Given the description of an element on the screen output the (x, y) to click on. 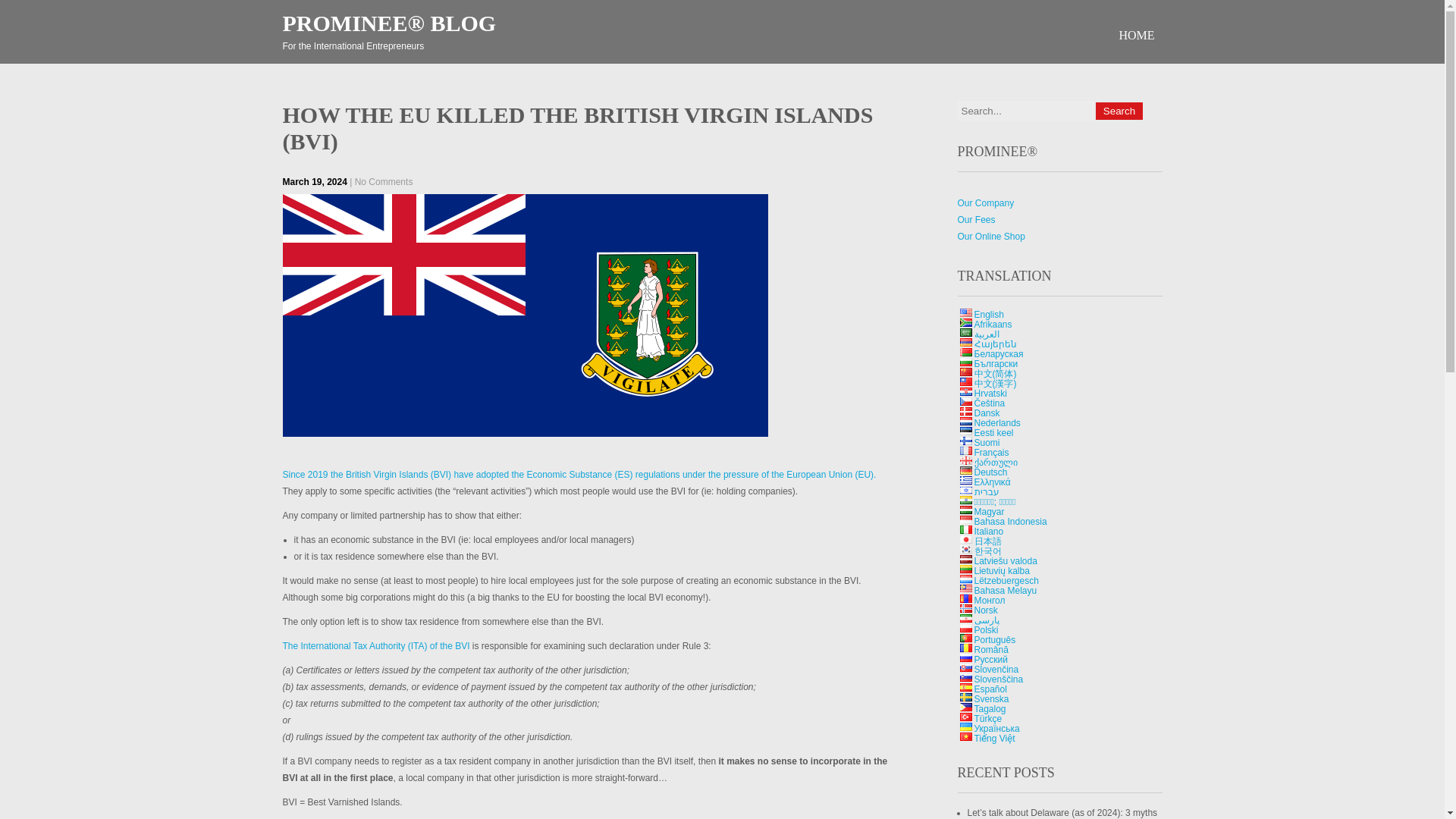
Eesti keel (993, 432)
Hrvatski (990, 393)
English (988, 314)
Suomi (965, 440)
Nederlands (997, 422)
Our Company (984, 203)
Hrvatski (965, 391)
Dansk (986, 412)
No Comments (384, 181)
Deutsch (965, 470)
